Given the description of an element on the screen output the (x, y) to click on. 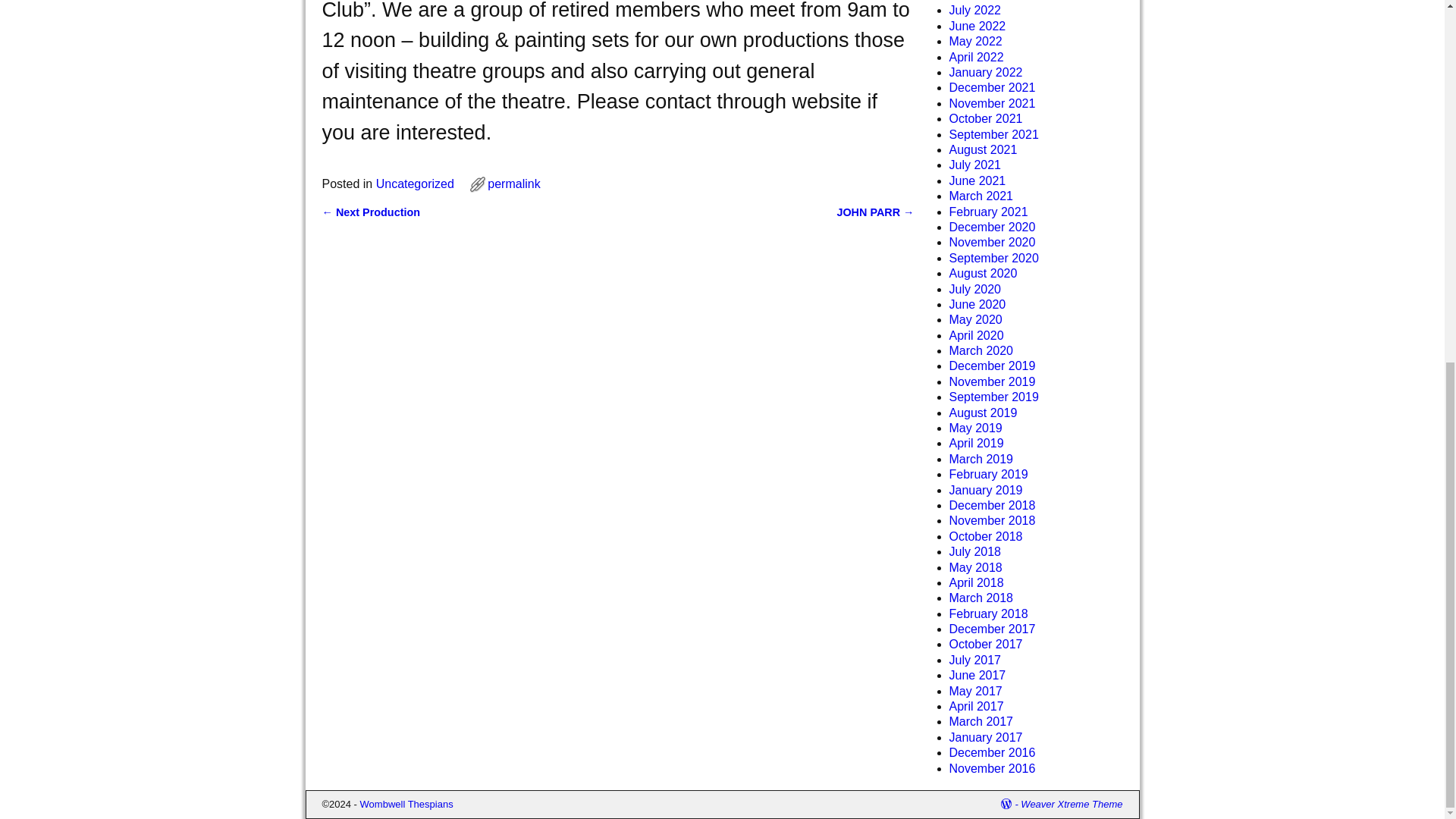
permalink (513, 183)
Weaver Xtreme Theme (1071, 803)
Uncategorized (414, 183)
Proudly powered by WordPress (1011, 803)
Permalink to MAY PRODUCTION (513, 183)
Wombwell Thespians (405, 803)
